Given the description of an element on the screen output the (x, y) to click on. 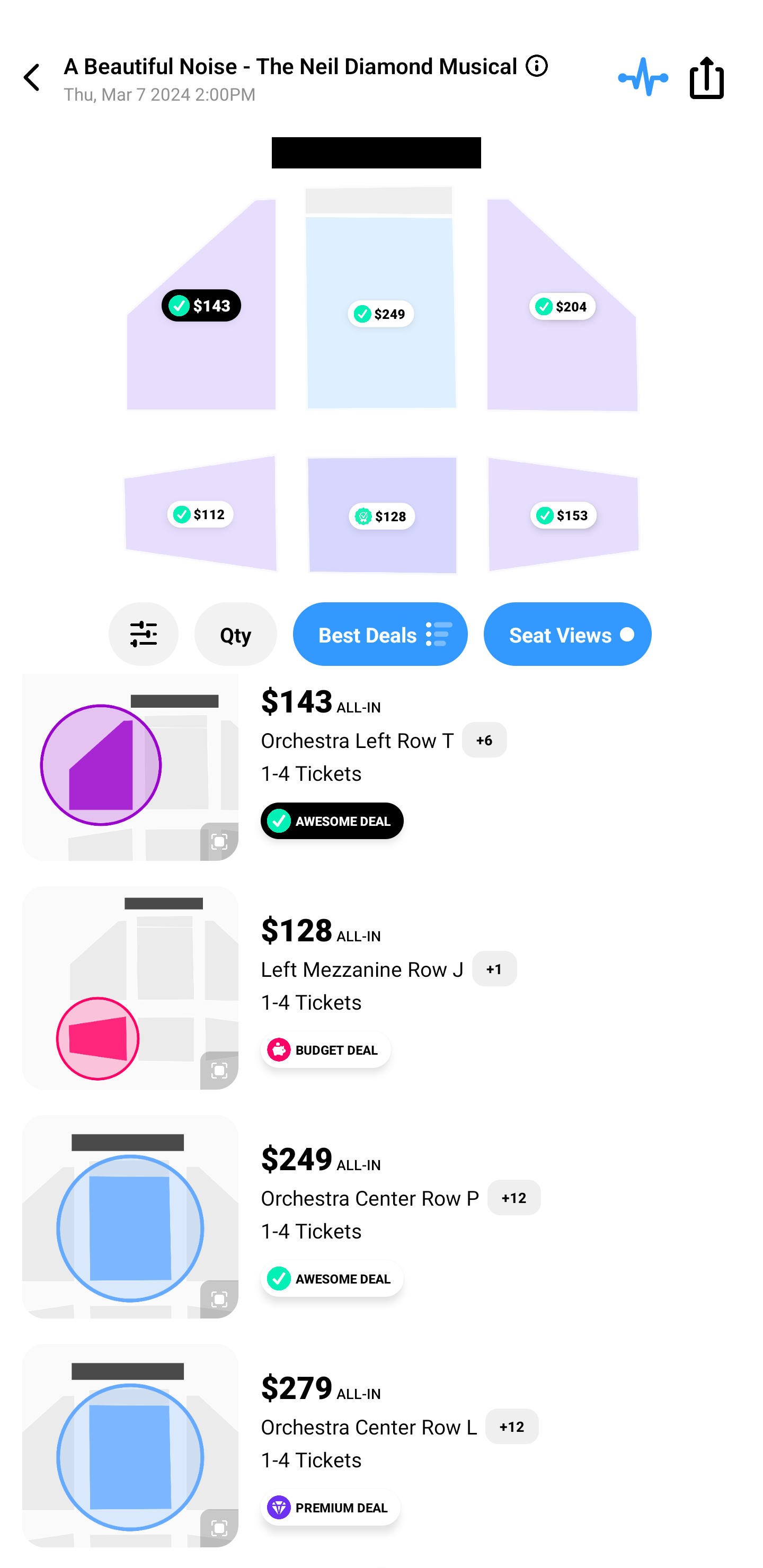
$249 (380, 313)
Qty (235, 634)
Best Deals (379, 634)
Seat Views (567, 634)
+6 (484, 739)
AWESOME DEAL (331, 820)
+1 (494, 968)
BUDGET DEAL (325, 1049)
+12 (513, 1197)
AWESOME DEAL (331, 1278)
+12 (511, 1426)
PREMIUM DEAL (330, 1507)
